Given the description of an element on the screen output the (x, y) to click on. 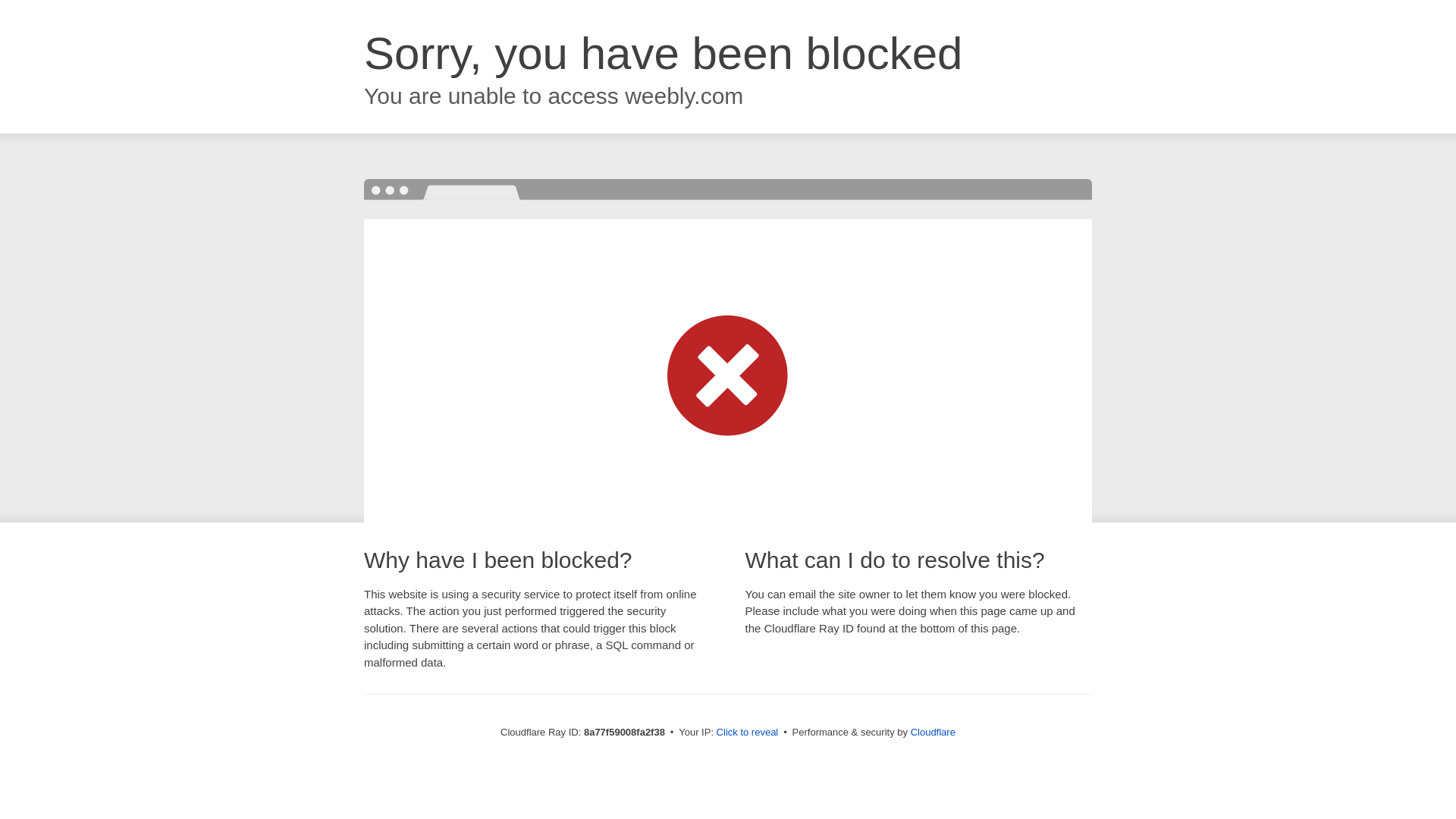
Cloudflare (933, 731)
Click to reveal (747, 732)
